Given the description of an element on the screen output the (x, y) to click on. 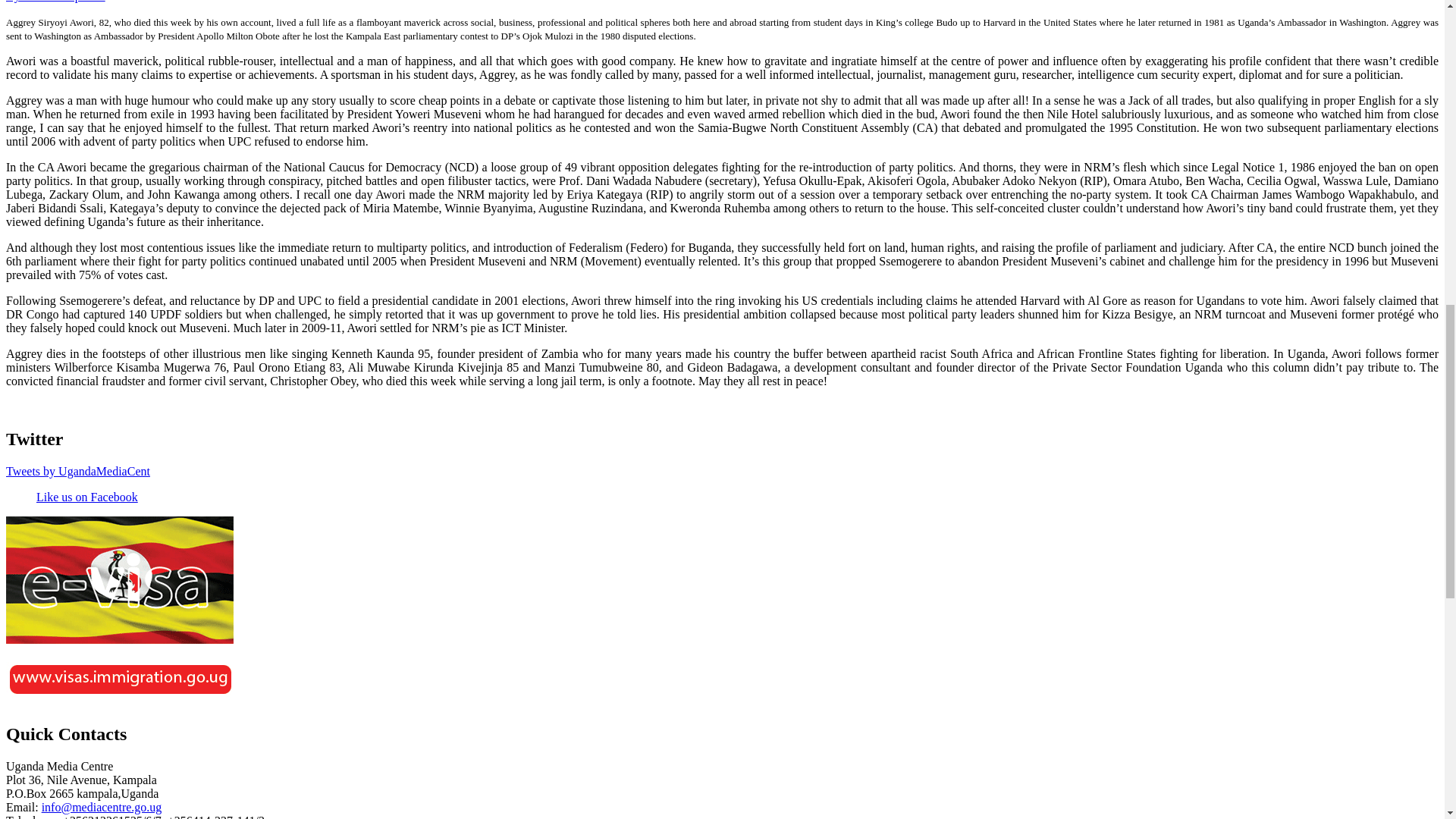
e-visa system (118, 701)
Like us on Facebook (87, 496)
By Ofwono Opondo (54, 1)
Tweets by UgandaMediaCent (77, 471)
